Given the description of an element on the screen output the (x, y) to click on. 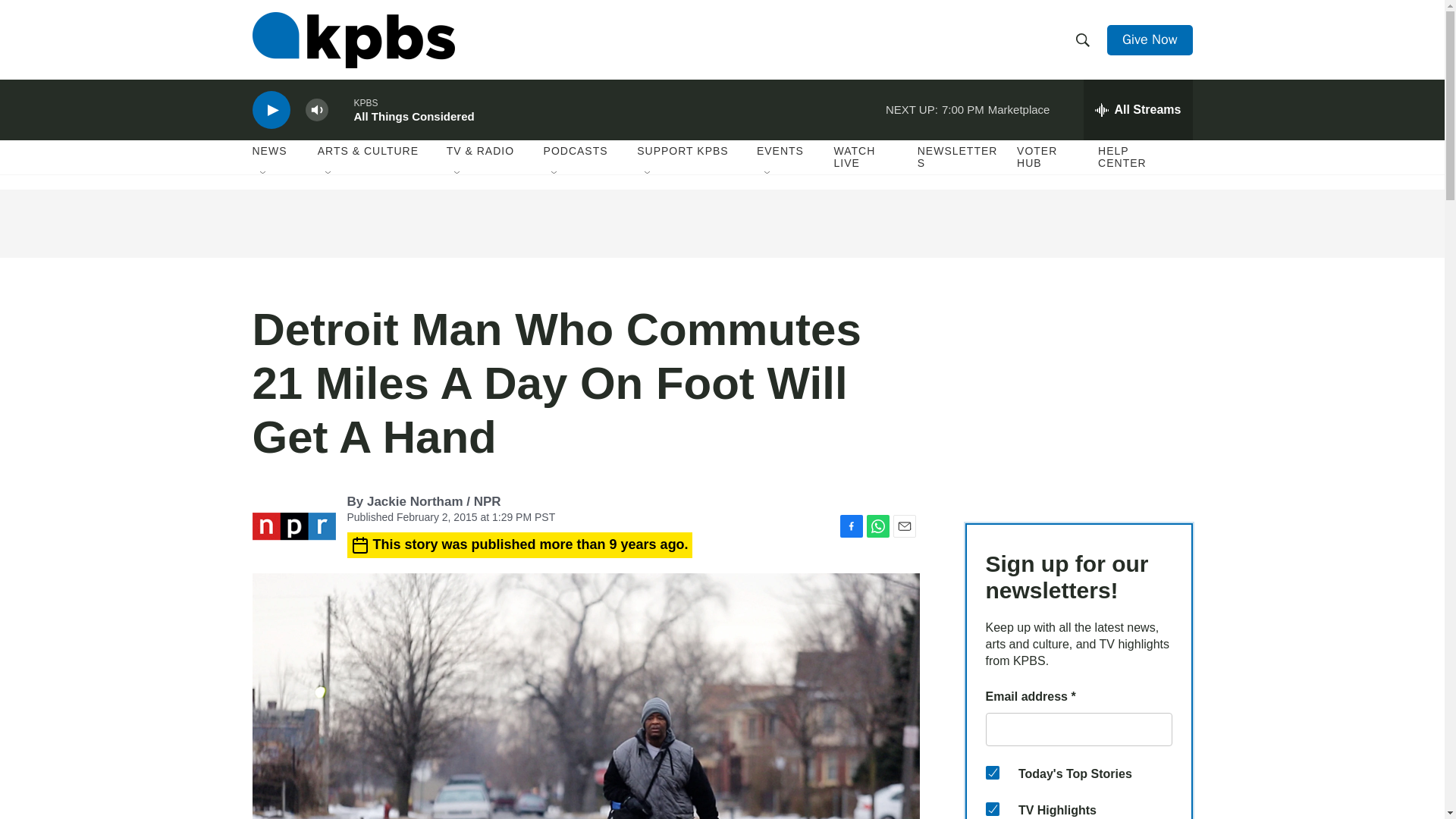
4 (991, 772)
5 (991, 808)
